Given the description of an element on the screen output the (x, y) to click on. 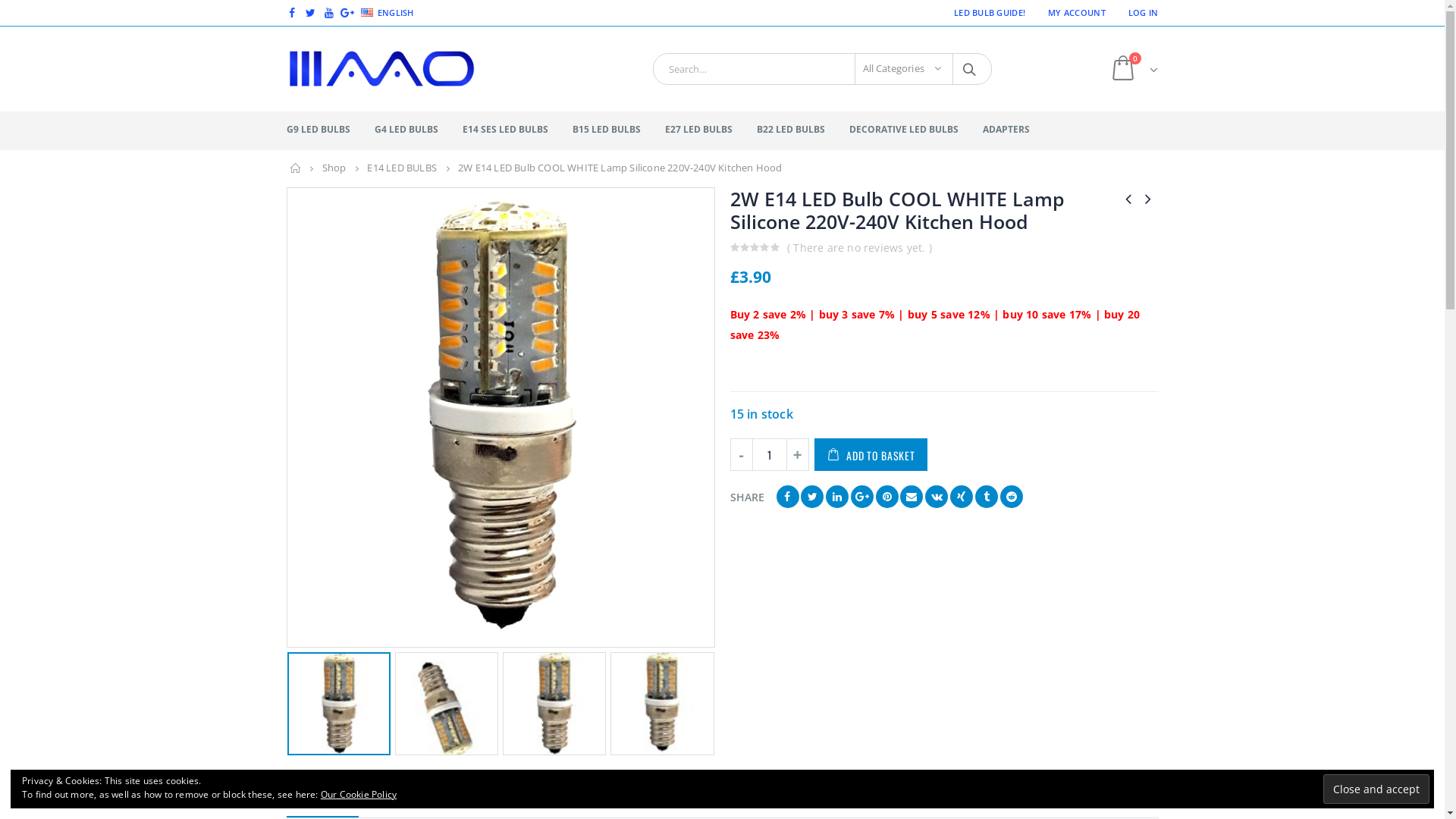
3AAO LED Bulbs - LED Light Bulbs All The Way  Element type: hover (381, 68)
ADAPTERS Element type: text (1017, 130)
MY ACCOUNT Element type: text (1076, 12)
Youtube Element type: hover (329, 12)
E14 SES LED BULBS Element type: text (516, 130)
Facebook Element type: text (787, 496)
Facebook Element type: hover (291, 12)
ADD TO BASKET Element type: text (870, 454)
B22 LED BULBS Element type: text (801, 130)
Google Plus Element type: hover (347, 12)
E14 LED BULBS Element type: text (401, 168)
Google + Element type: text (861, 496)
Pinterest Element type: text (886, 496)
Our Cookie Policy Element type: text (358, 793)
Tumblr Element type: text (986, 496)
Shop Element type: text (333, 168)
B15 LED BULBS Element type: text (616, 130)
E27 LED BULBS Element type: text (709, 130)
VK Element type: text (936, 496)
Twitter Element type: text (811, 496)
( There are no reviews yet. ) Element type: text (863, 247)
LOG IN Element type: text (1137, 12)
G4 LED BULBS Element type: text (417, 130)
DECORATIVE LED BULBS Element type: text (915, 130)
Email Element type: text (911, 496)
Search Element type: hover (970, 68)
LinkedIn Element type: text (836, 496)
Twitter Element type: hover (310, 12)
Home Element type: text (294, 168)
G9 LED BULBS Element type: text (329, 130)
Xing Element type: text (961, 496)
Close and accept Element type: text (1376, 788)
Reddit Element type: text (1011, 496)
Qty Element type: hover (768, 454)
LED BULB GUIDE! Element type: text (989, 12)
